Given the description of an element on the screen output the (x, y) to click on. 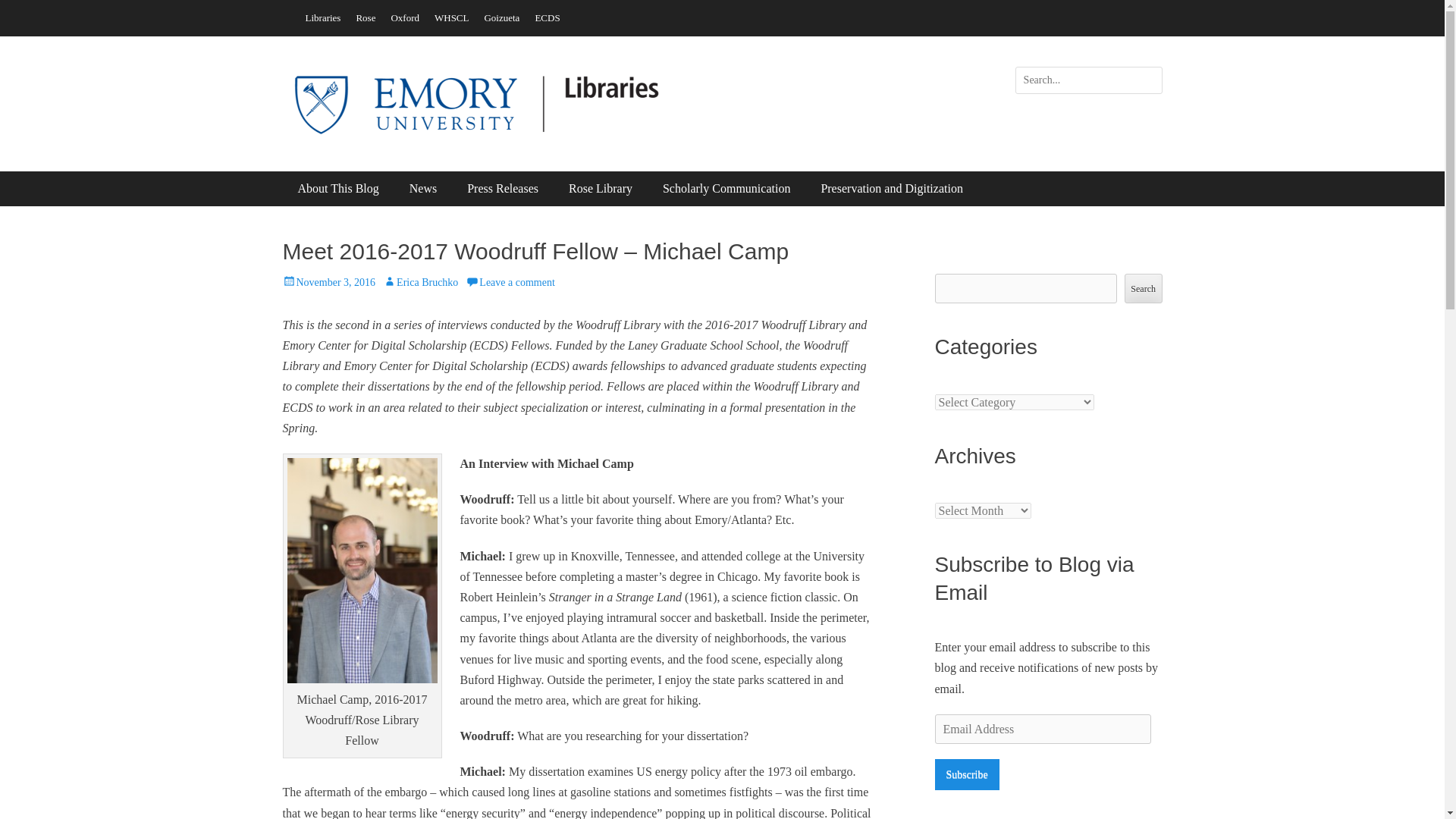
About This Blog (337, 188)
Emory Libraries Blog (427, 85)
November 3, 2016 (328, 282)
Oxford (404, 17)
Scholarly Communication (726, 188)
Leave a comment (509, 282)
Rose Library (600, 188)
Preservation and Digitization (891, 188)
WHSCL (451, 17)
Subscribe (966, 774)
